Given the description of an element on the screen output the (x, y) to click on. 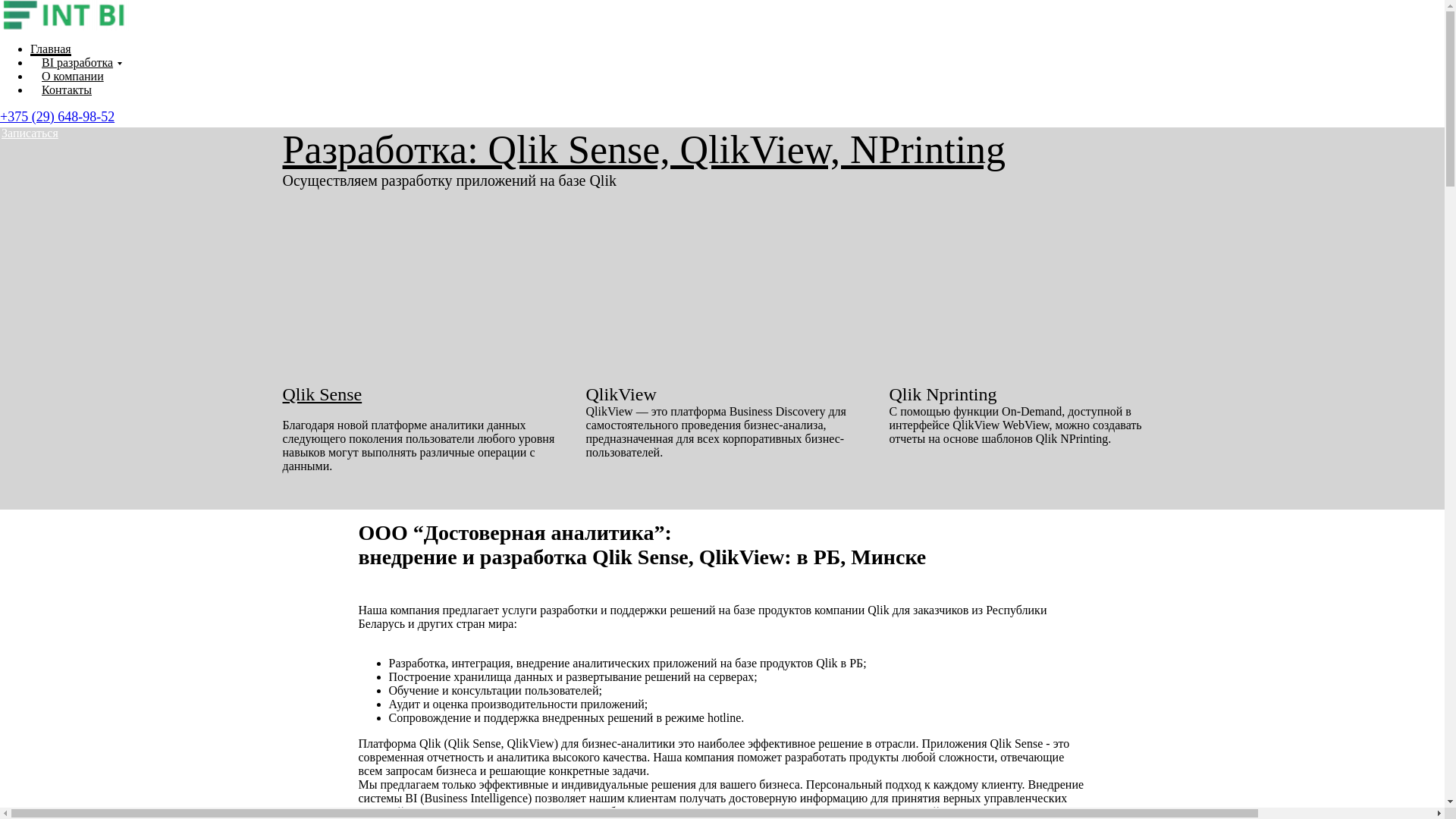
+375 (29) 648-98-52 Element type: text (57, 116)
Qlik Sense Element type: text (321, 394)
